Given the description of an element on the screen output the (x, y) to click on. 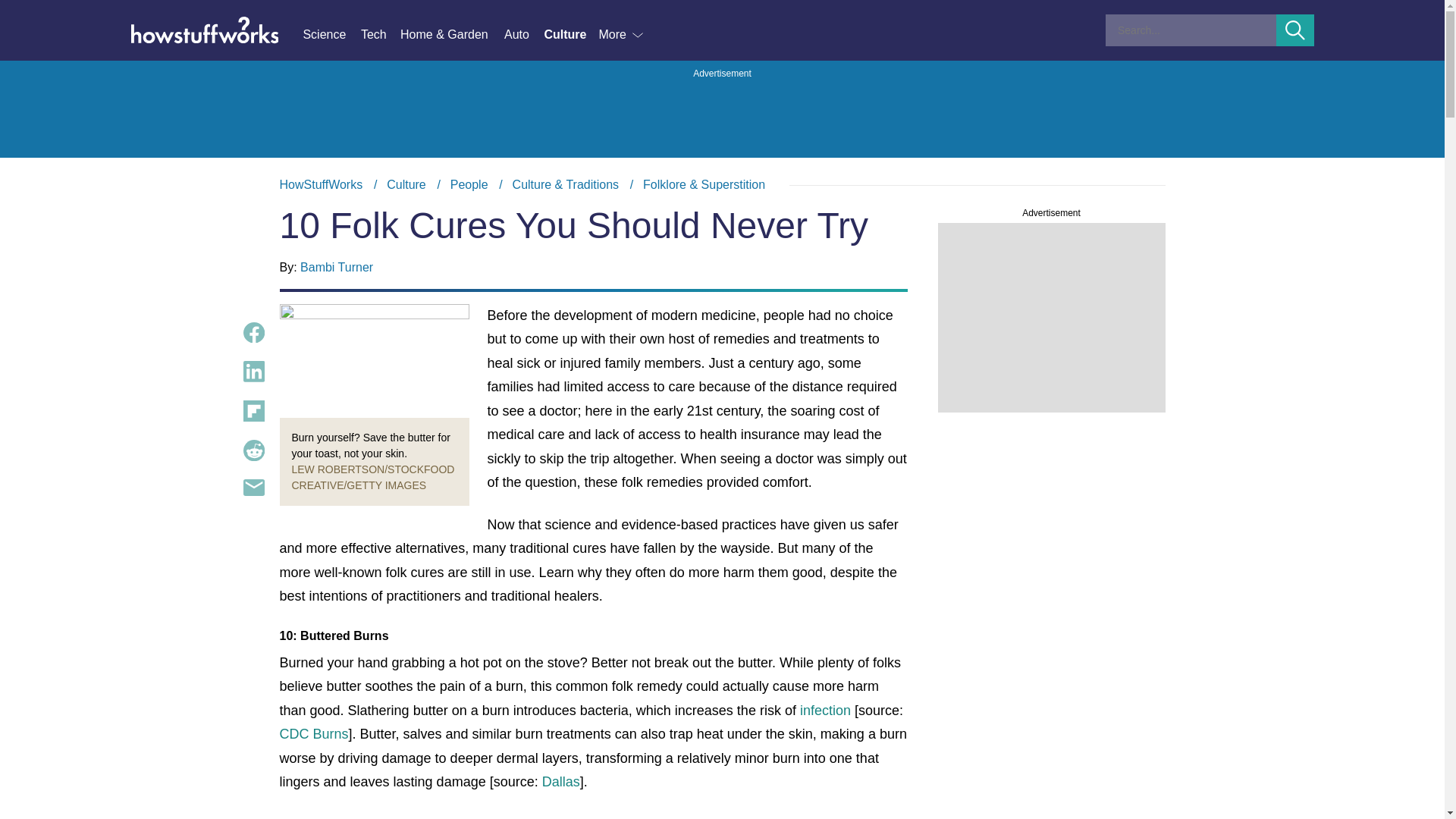
Share Content via Email (253, 487)
HowStuffWorks (320, 184)
More (621, 34)
Submit Search (1295, 29)
Share Content on Facebook (253, 332)
Auto (523, 34)
Share Content on Reddit (253, 450)
Science (330, 34)
Culture (570, 34)
Tech (380, 34)
